Given the description of an element on the screen output the (x, y) to click on. 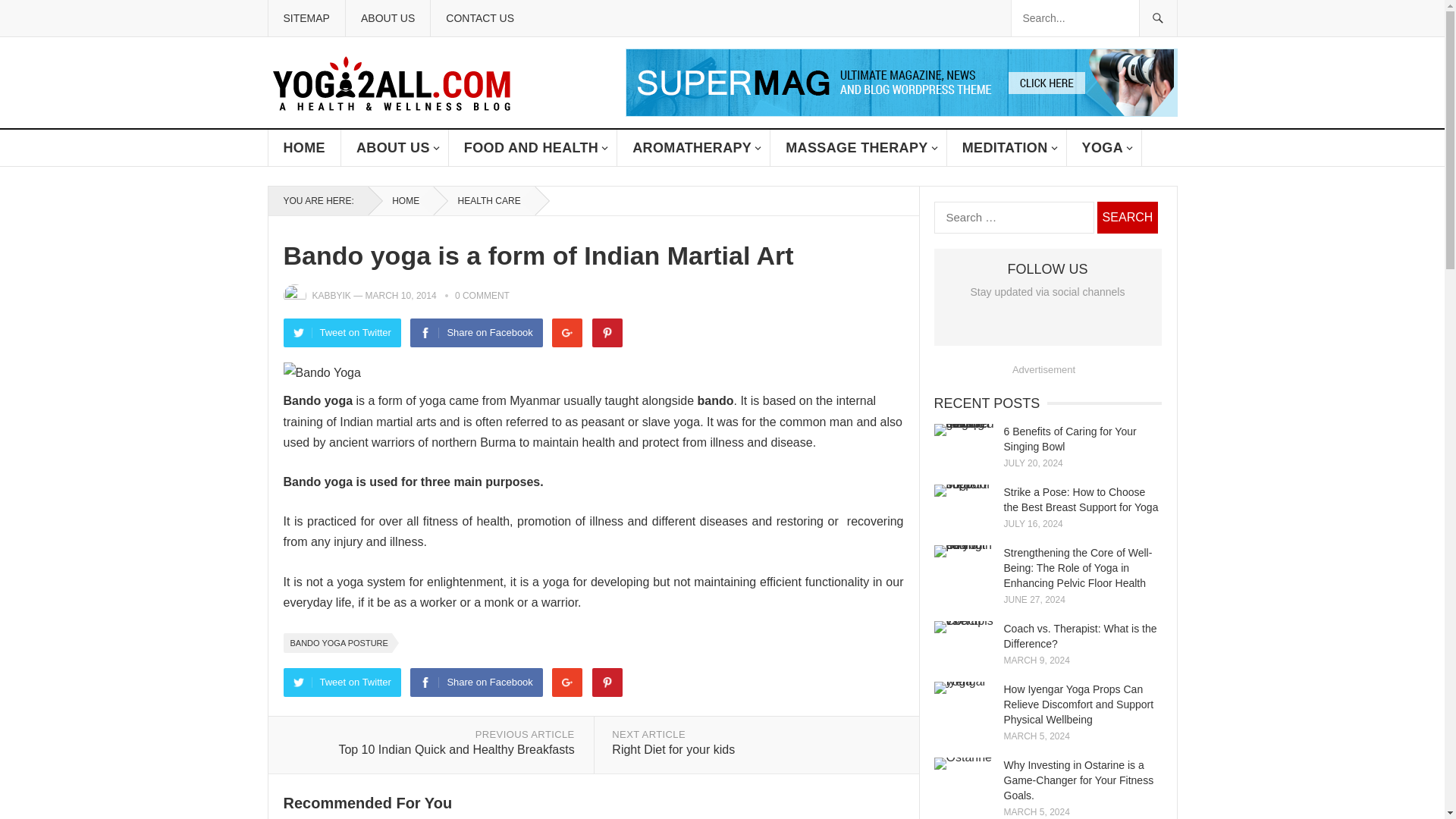
View all posts in Health care (483, 200)
SITEMAP (304, 18)
Search (1127, 217)
Posts by Kabbyik (331, 295)
Search (1127, 217)
ABOUT US (387, 18)
AROMATHERAPY (693, 147)
MASSAGE THERAPY (858, 147)
MEDITATION (1007, 147)
SuperMag (900, 112)
ABOUT US (394, 147)
CONTACT US (479, 18)
HOME (303, 147)
YOGA (1104, 147)
FOOD AND HEALTH (532, 147)
